Given the description of an element on the screen output the (x, y) to click on. 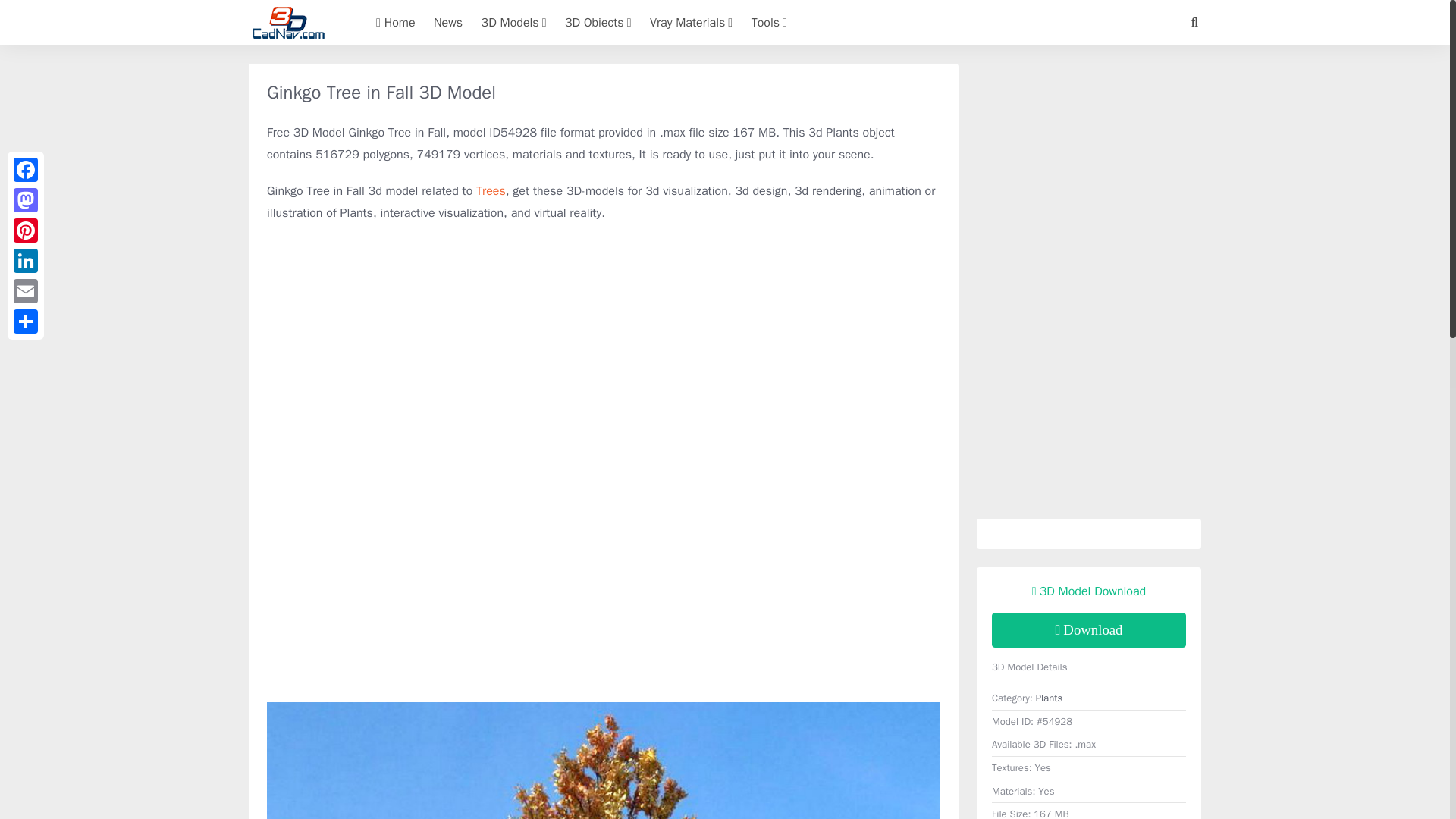
download Ginkgo Tree in Fall 3d model (1088, 629)
3D Obiects (597, 22)
3D Models (514, 22)
Trees 3d model (490, 191)
